Given the description of an element on the screen output the (x, y) to click on. 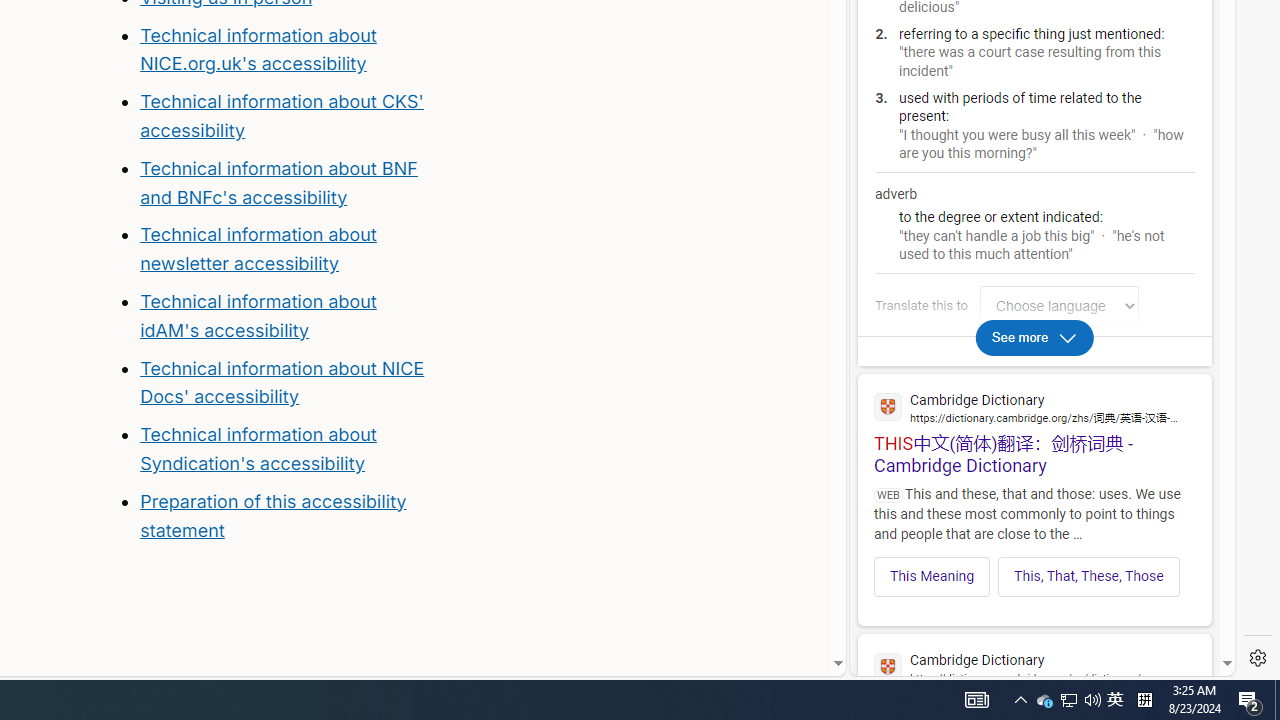
Technical information about CKS' accessibility (281, 115)
This MeaningThis, That, These, Those (1034, 570)
This, That, These, Those (1089, 575)
Preparation of this accessibility statement (273, 515)
Technical information about newsletter accessibility (258, 249)
Cambridge Dictionary (1034, 666)
